Given the description of an element on the screen output the (x, y) to click on. 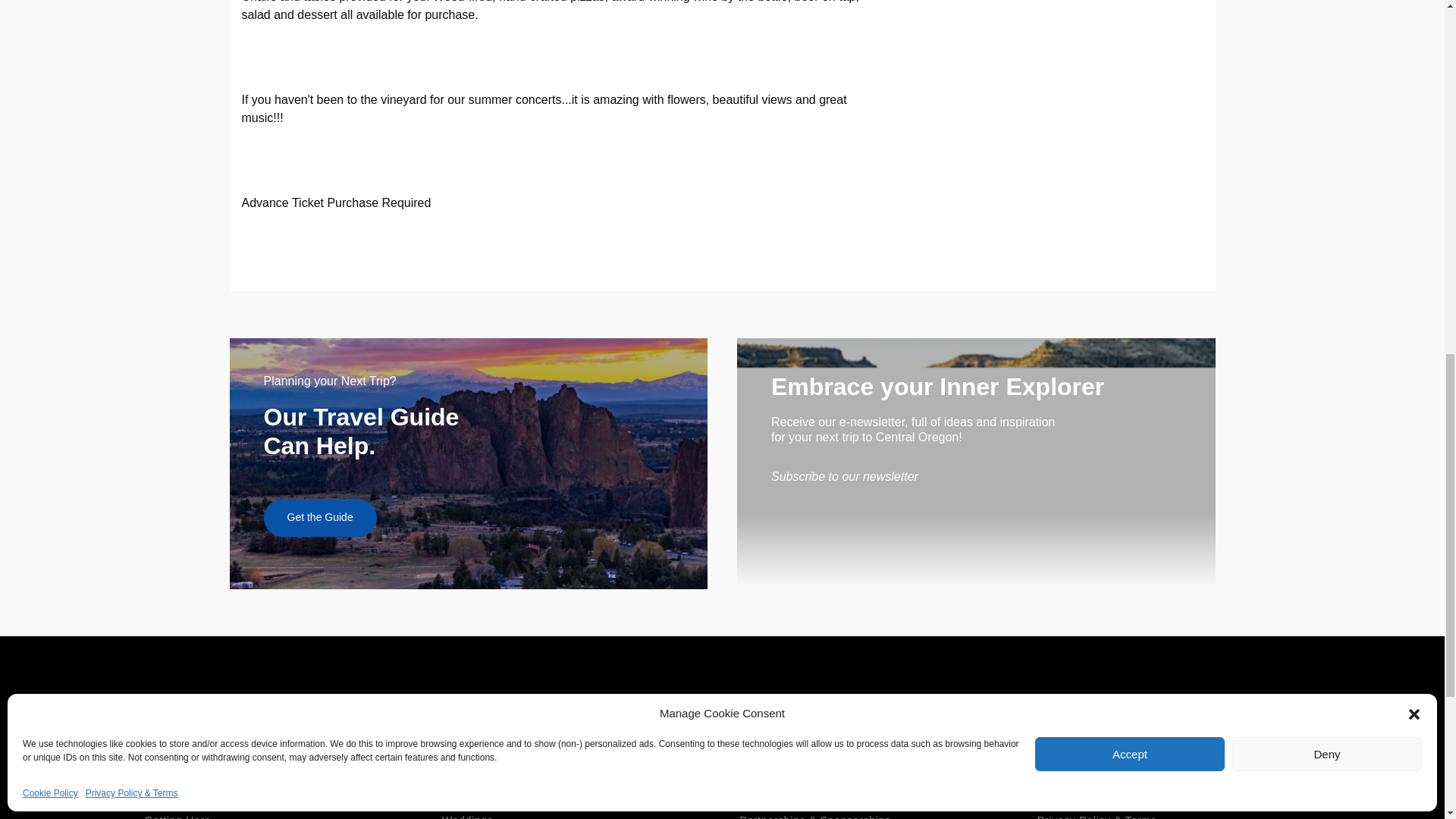
Follow on Facebook (1069, 726)
Follow on Youtube (1239, 726)
Follow on Pinterest (1281, 724)
Follow on X (1153, 726)
Follow on LinkedIn (1195, 726)
Follow on Instagram (1111, 726)
